Given the description of an element on the screen output the (x, y) to click on. 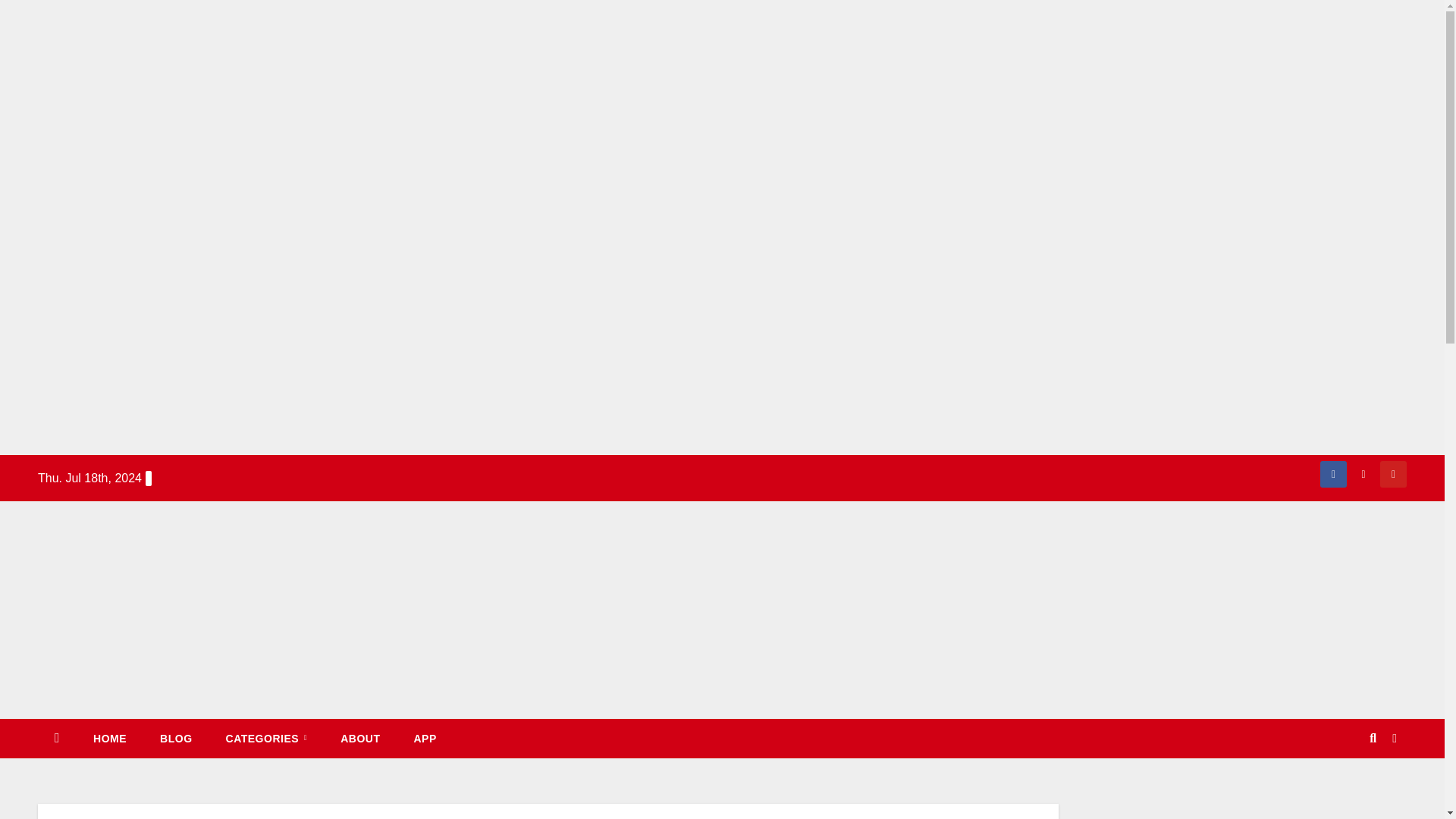
BLOG (175, 738)
About (359, 738)
Home (109, 738)
CATEGORIES (266, 738)
APP (424, 738)
Blog (175, 738)
APP (424, 738)
Categories (266, 738)
ABOUT (359, 738)
HOME (109, 738)
